Given the description of an element on the screen output the (x, y) to click on. 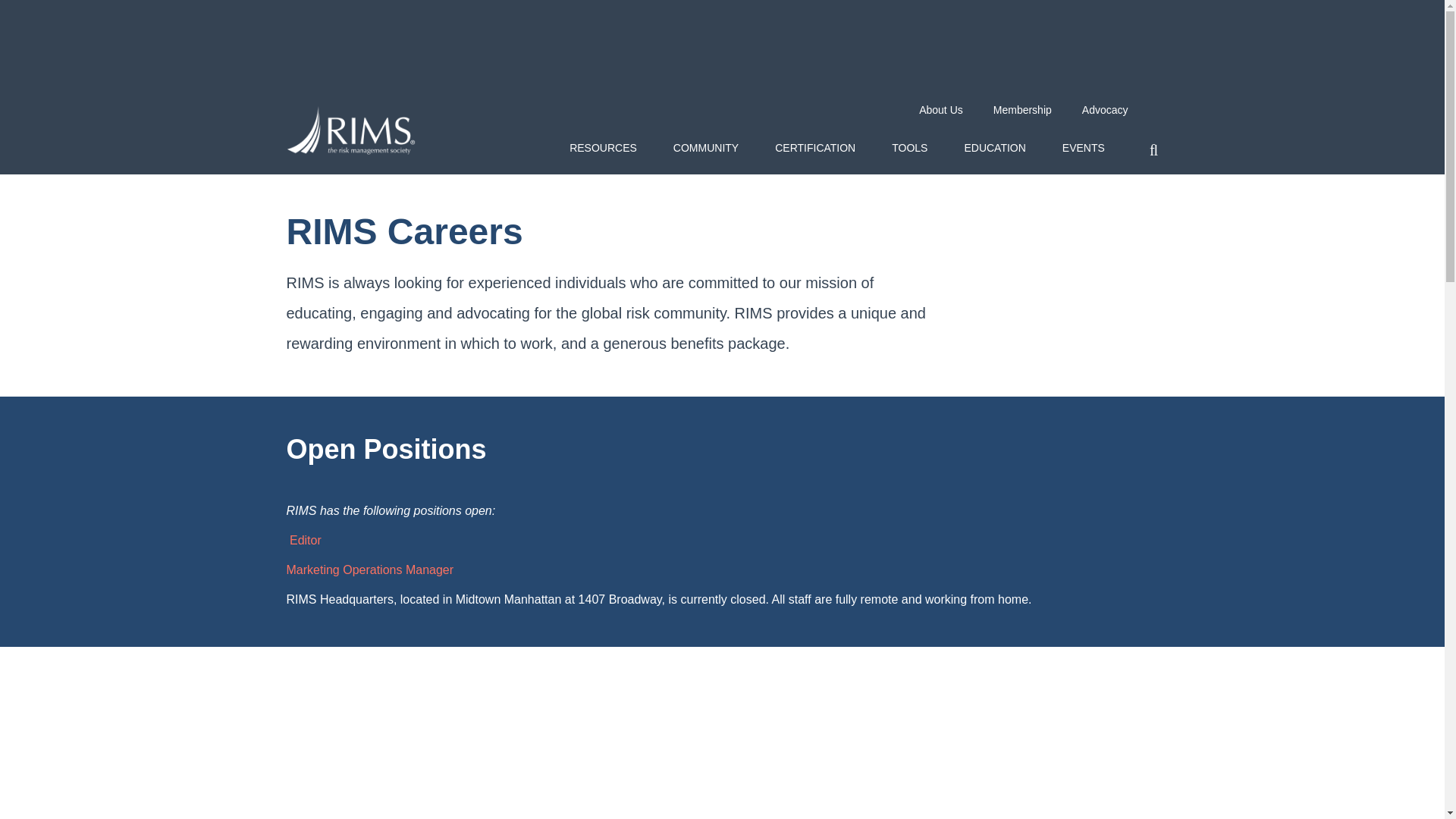
Advocacy (1104, 109)
About Us (940, 109)
Membership (1021, 109)
COMMUNITY (706, 153)
RESOURCES (603, 153)
3rd party ad content (721, 49)
RIMS, the risk management society (350, 130)
